Given the description of an element on the screen output the (x, y) to click on. 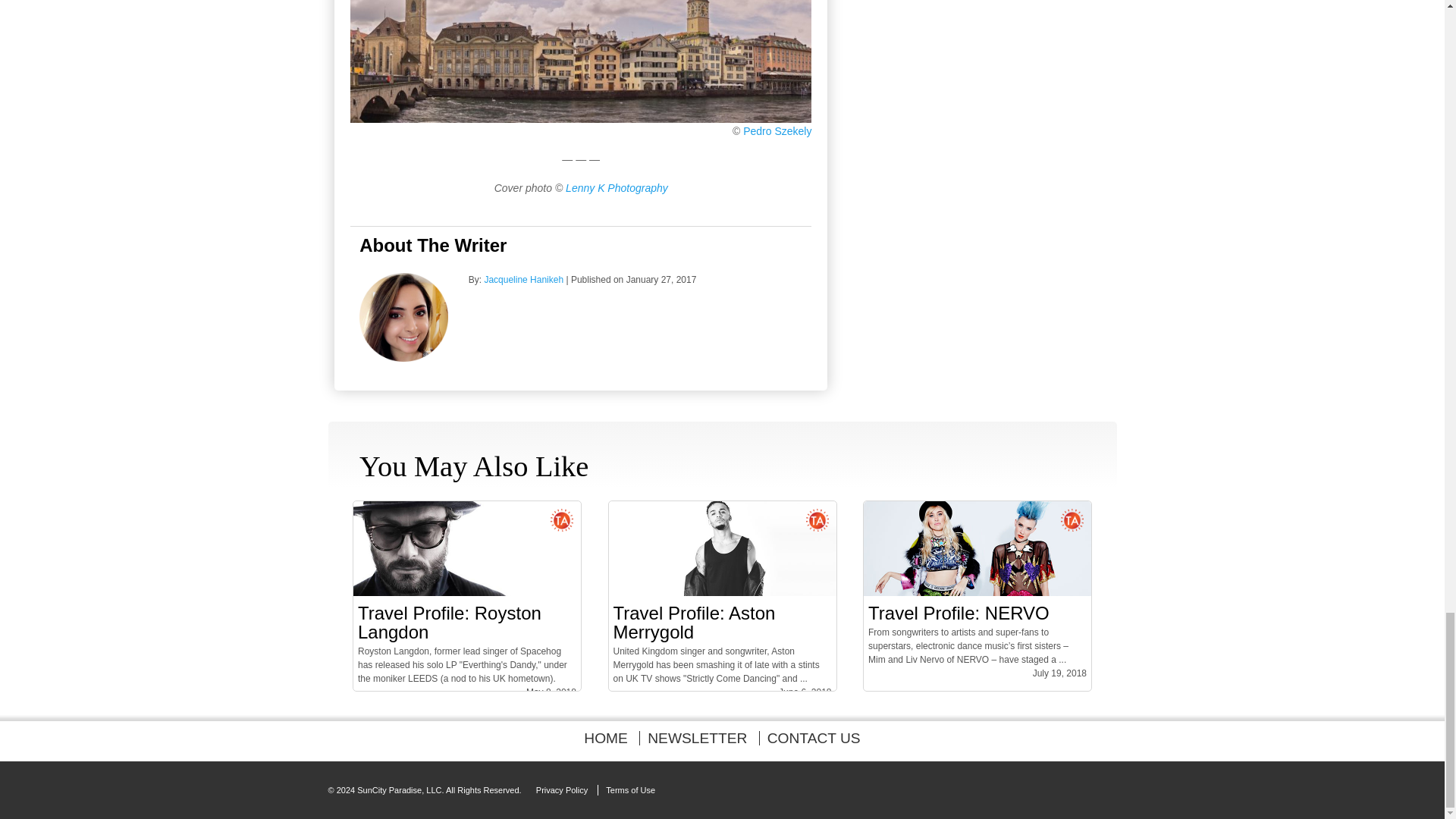
Lenny K Photography (617, 187)
Travel Profile: Aston Merrygold (693, 622)
Jacqueline Hanikeh (403, 357)
Pedro Szekely (776, 131)
Travel Profile: Aston Merrygold (721, 593)
Travel Profile: Royston Langdon (466, 593)
Jacqueline Hanikeh (523, 279)
Jacqueline Hanikeh (523, 279)
Travel Profile: Royston Langdon (449, 622)
